Given the description of an element on the screen output the (x, y) to click on. 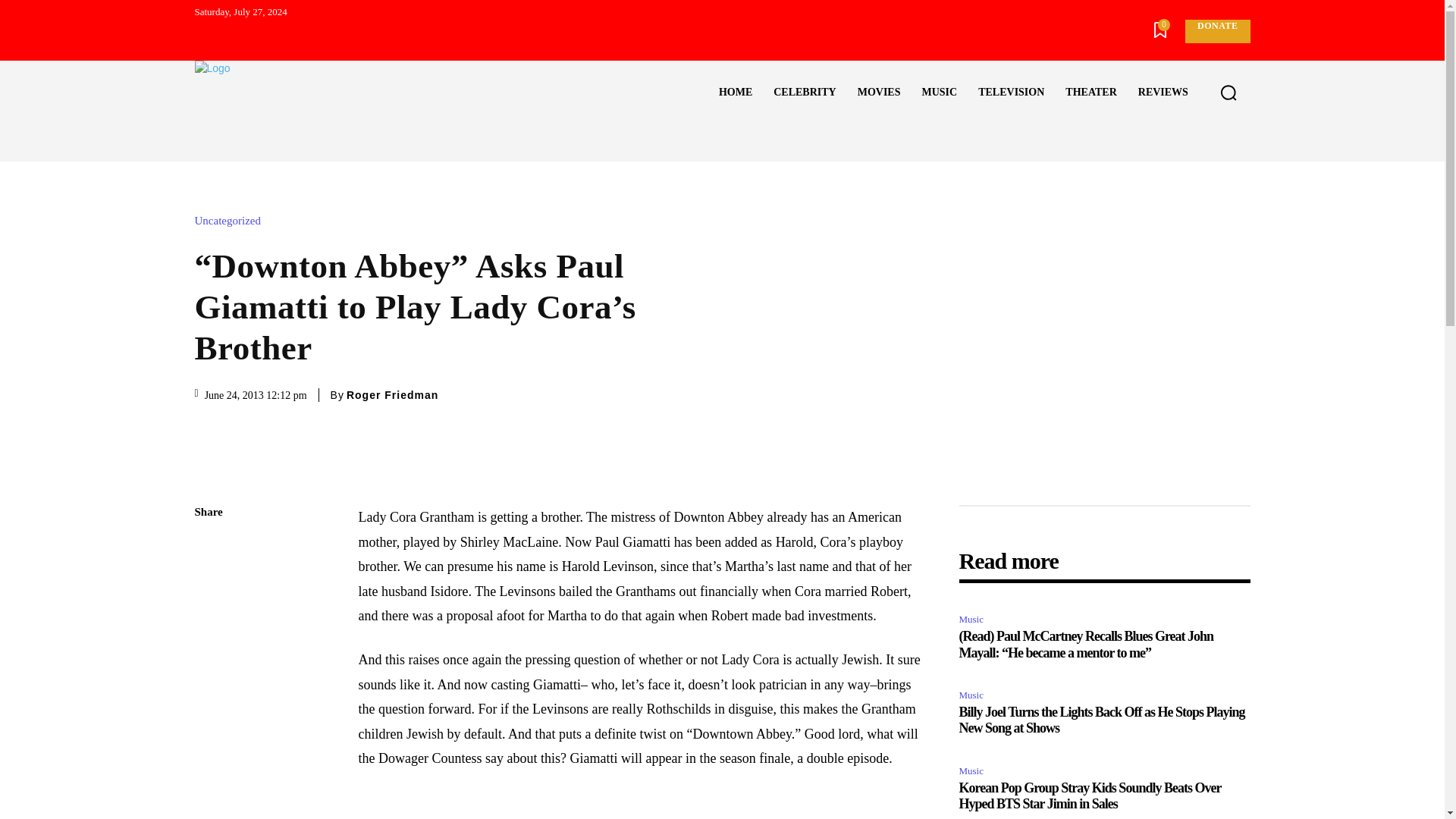
THEATER (1090, 92)
0 (1160, 31)
CELEBRITY (803, 92)
DONATE (1217, 31)
MUSIC (939, 92)
TELEVISION (1011, 92)
Uncategorized (230, 220)
MOVIES (879, 92)
HOME (734, 92)
Donate (1217, 31)
REVIEWS (1162, 92)
